Given the description of an element on the screen output the (x, y) to click on. 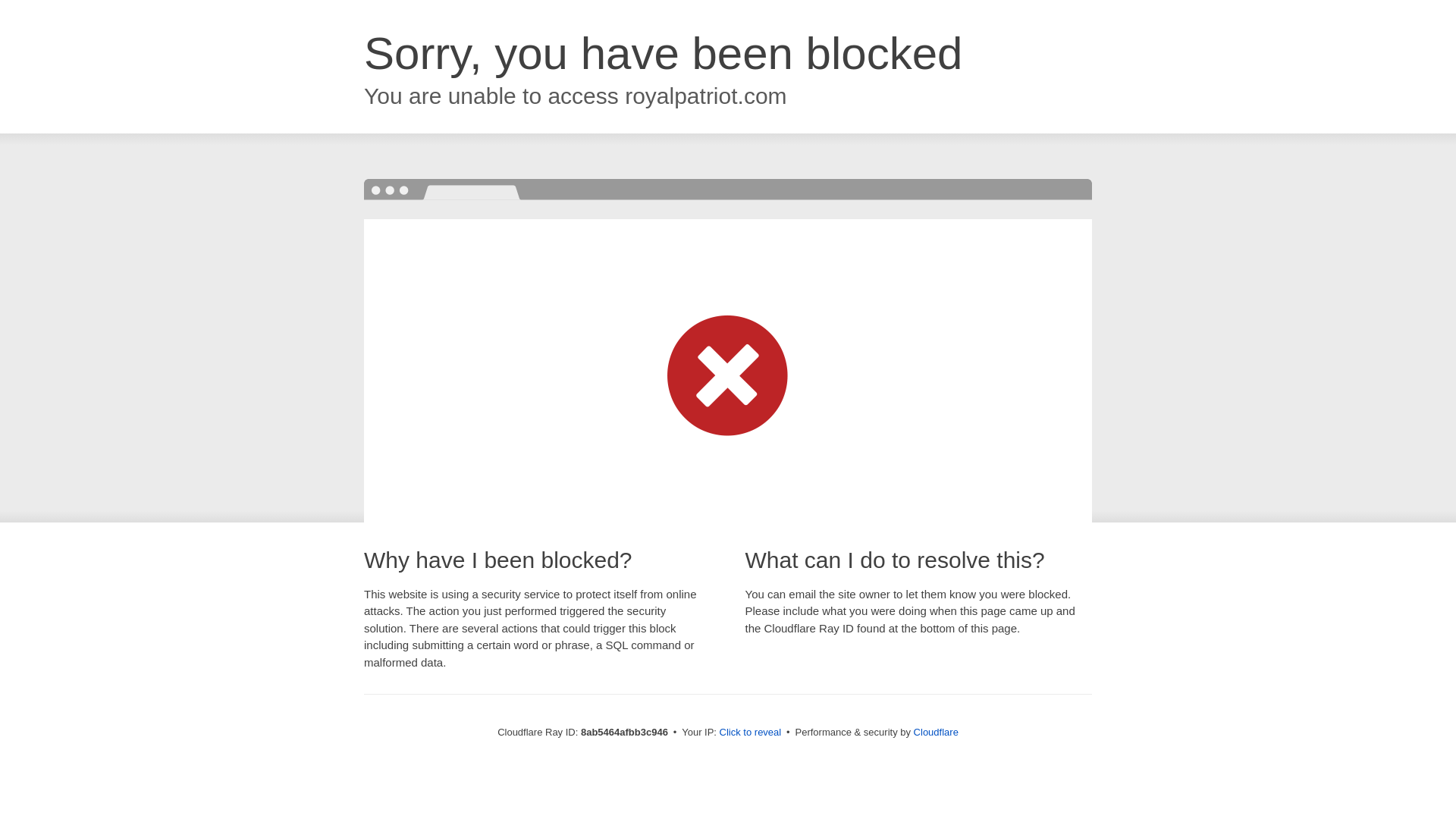
Click to reveal (750, 732)
Cloudflare (936, 731)
